Given the description of an element on the screen output the (x, y) to click on. 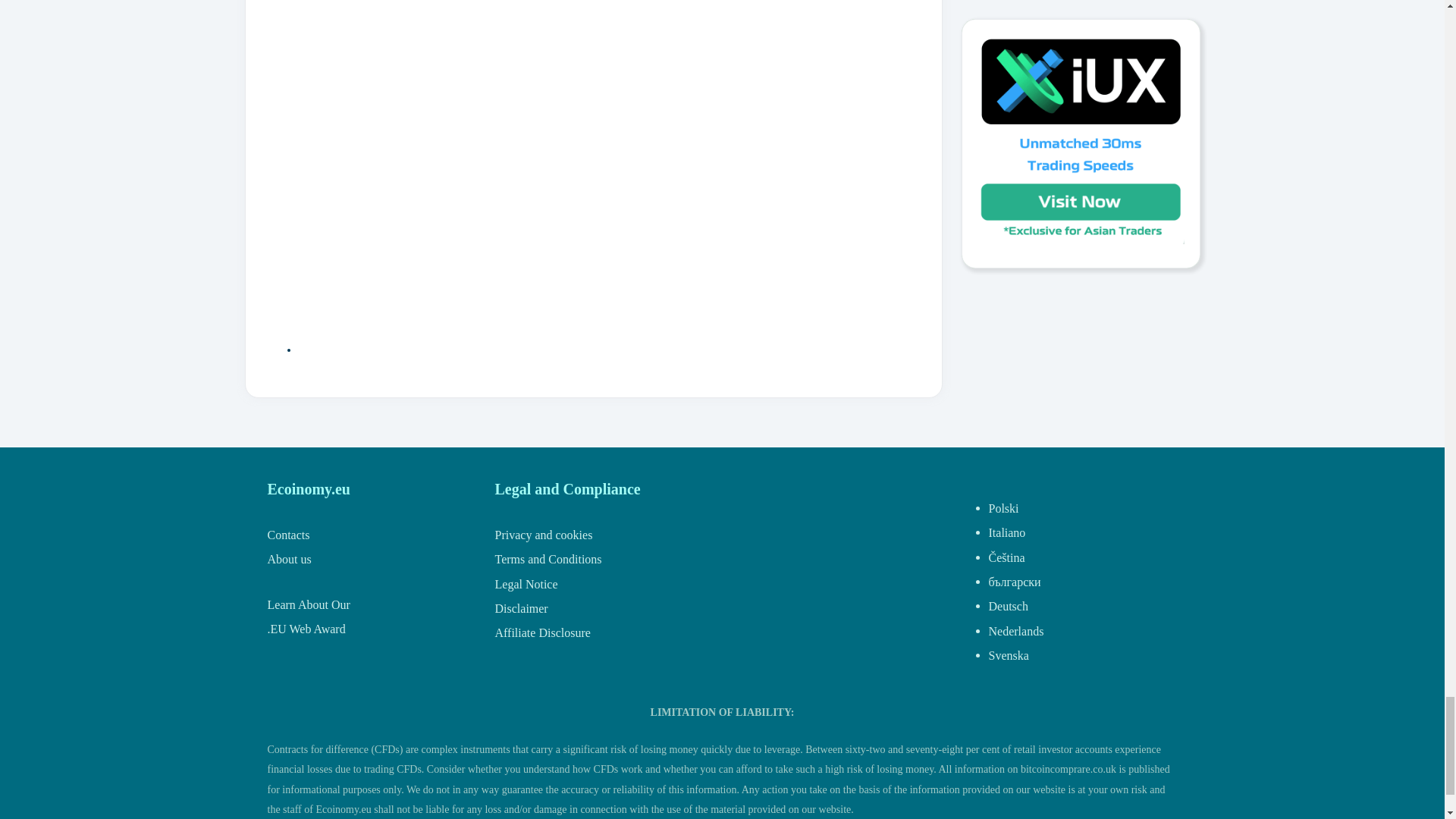
More Posts By Dean Decho (492, 349)
Contatto (287, 534)
